Given the description of an element on the screen output the (x, y) to click on. 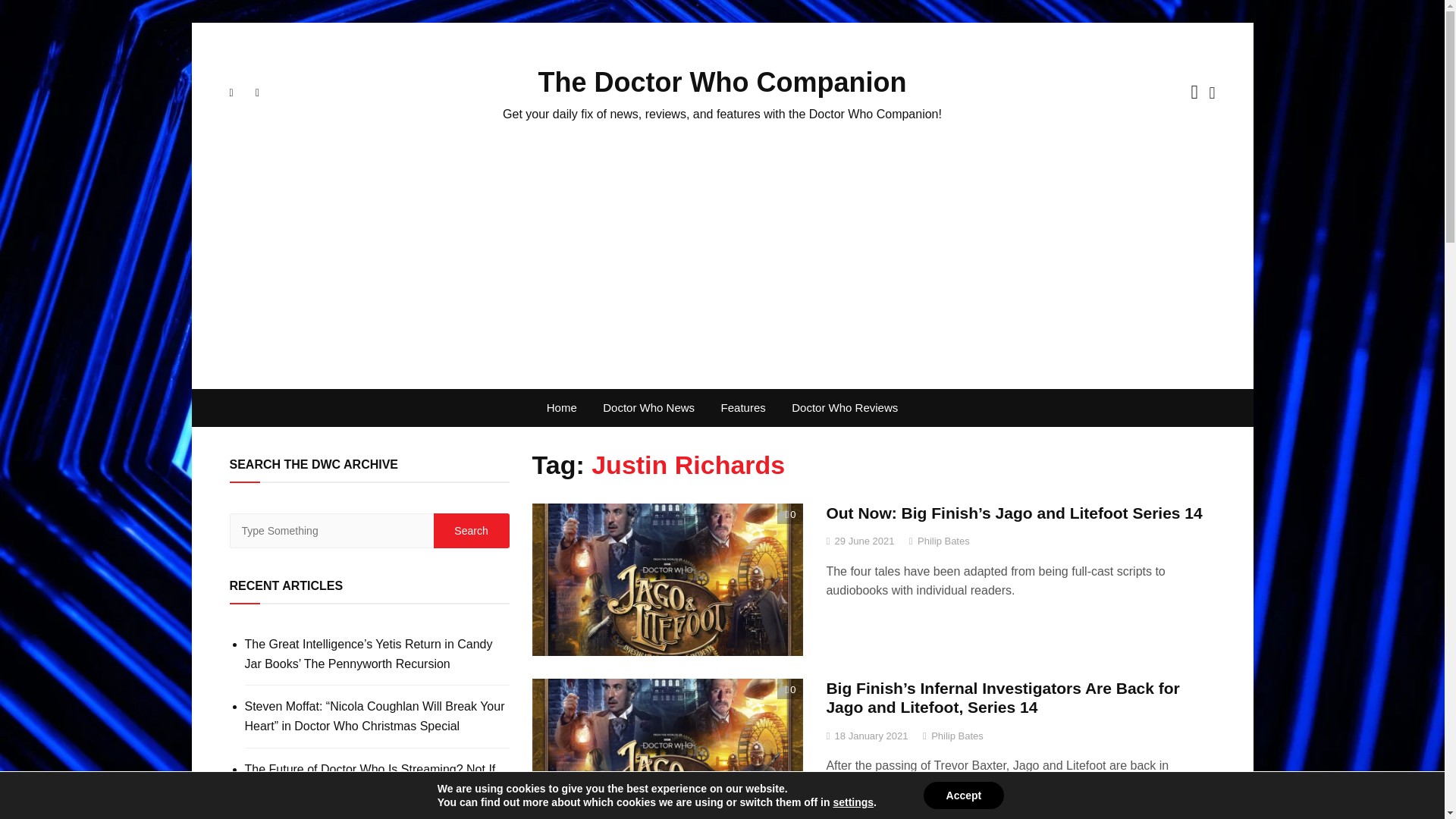
Doctor Who News (648, 407)
Features (743, 407)
Doctor Who Reviews (844, 407)
Search (471, 530)
The Doctor Who Companion (722, 81)
Home (561, 407)
